Given the description of an element on the screen output the (x, y) to click on. 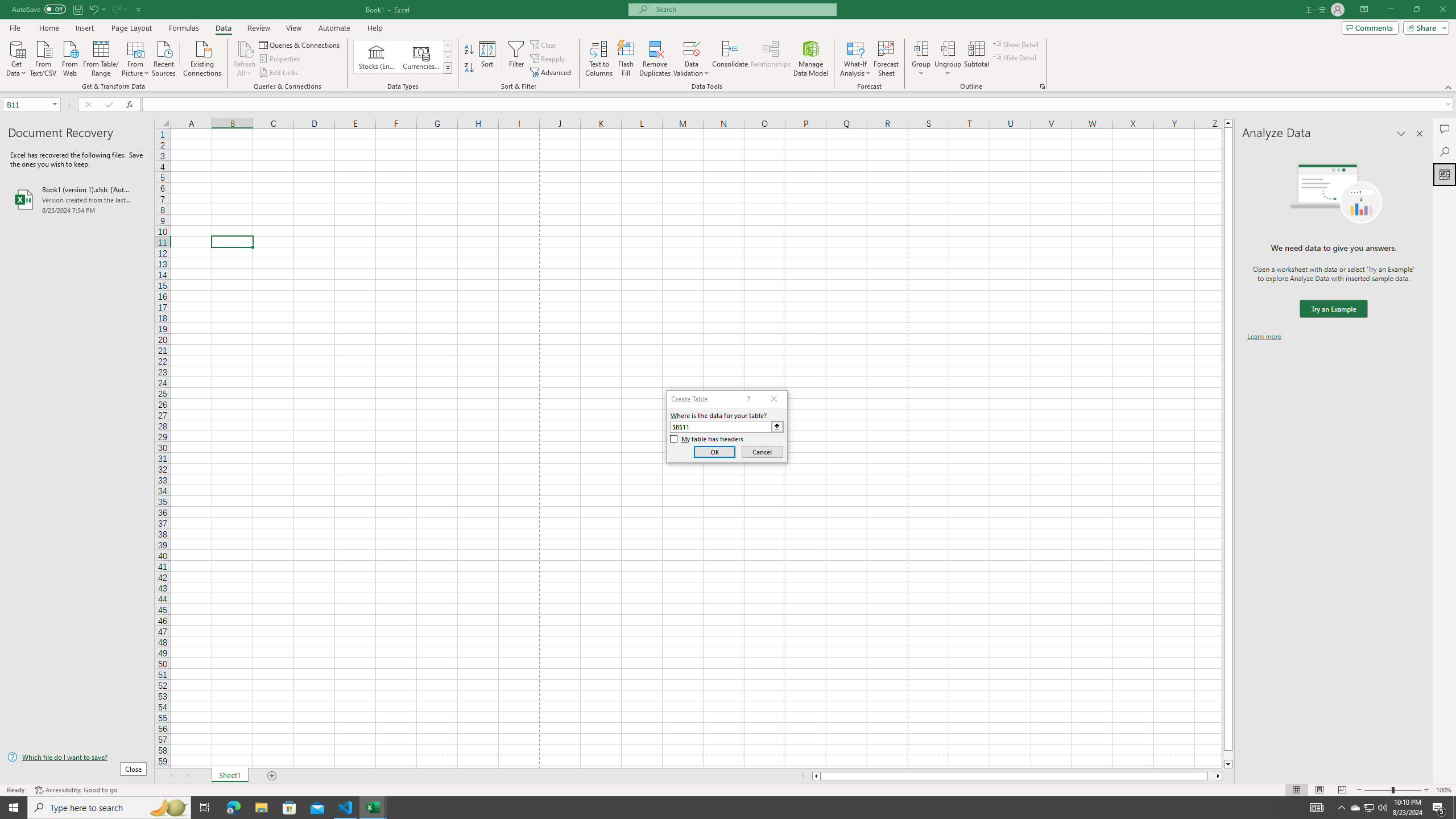
View (293, 28)
Comments (1444, 128)
Name Box (27, 104)
Column right (1218, 775)
Which file do I want to save? (77, 757)
More Options (947, 68)
Show Detail (1016, 44)
Currencies (English) (420, 56)
Class: MsoCommandBar (728, 45)
Home (48, 28)
We need data to give you answers. Try an Example (1333, 308)
Collapse the Ribbon (1448, 86)
